Given the description of an element on the screen output the (x, y) to click on. 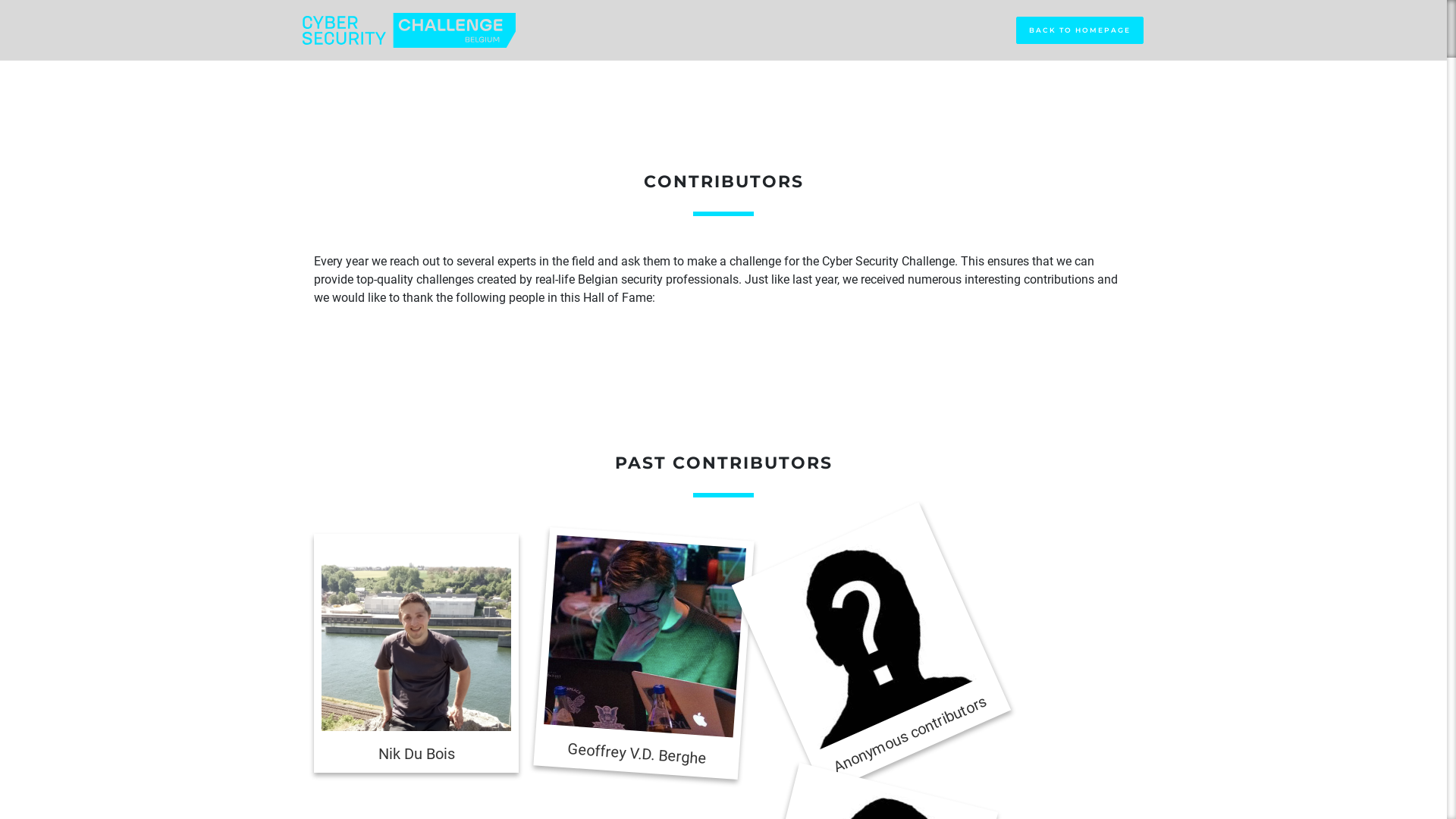
Nik Du Bois Element type: hover (416, 636)
Nik Du Bois Element type: hover (415, 652)
BACK TO HOMEPAGE Element type: text (1079, 29)
Anonymous contributors Element type: hover (836, 600)
Geoffrey V.D. Berghe Element type: hover (635, 646)
Geoffrey V.D. Berghe Element type: hover (638, 629)
Anonymous contributors Element type: hover (833, 615)
